Given the description of an element on the screen output the (x, y) to click on. 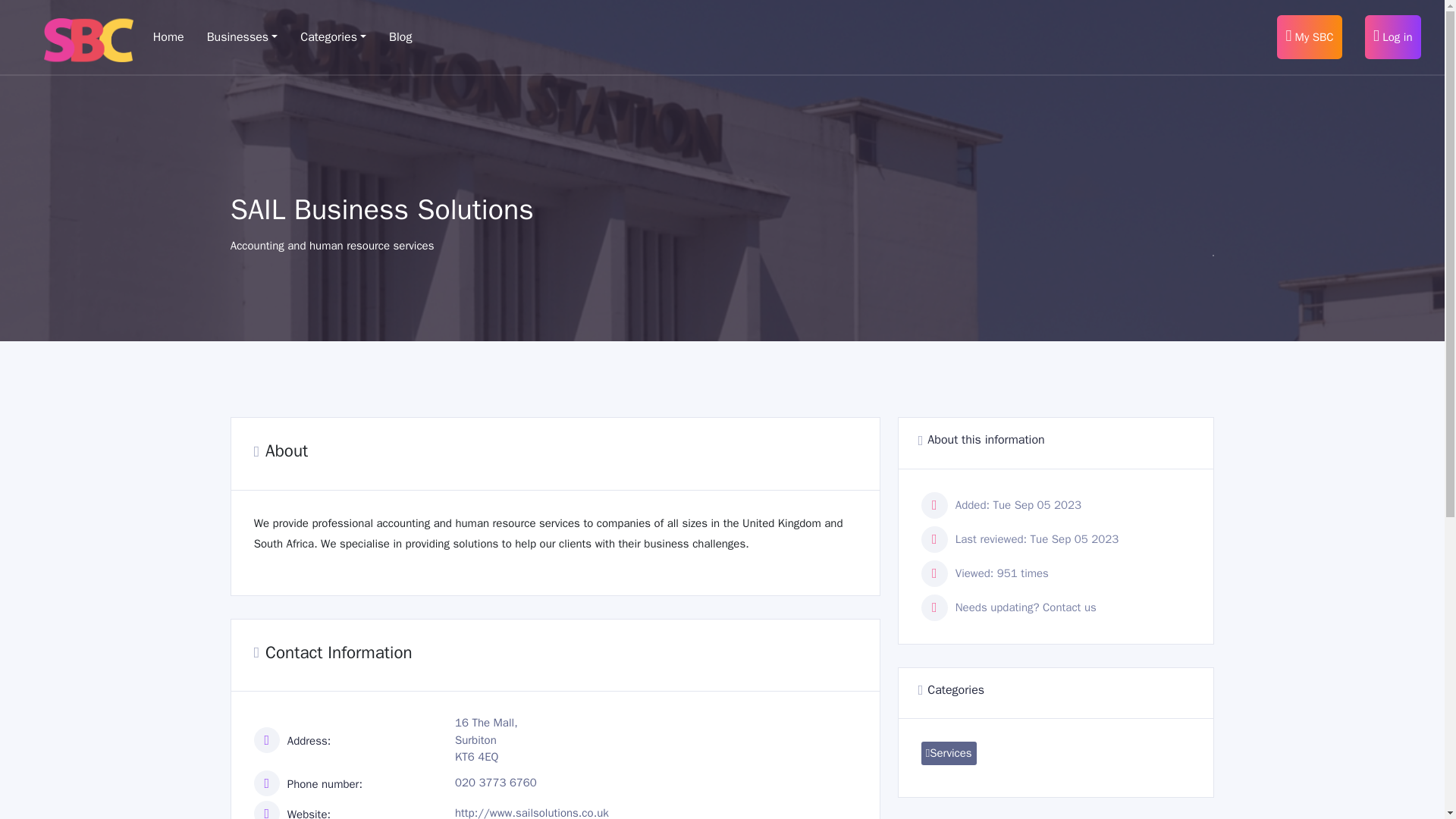
Log in (1393, 36)
Categories (332, 37)
Needs updating? Contact us (1025, 607)
Blog (400, 37)
My SBC (1309, 36)
Businesses (242, 37)
Services (948, 753)
Home (168, 37)
